Given the description of an element on the screen output the (x, y) to click on. 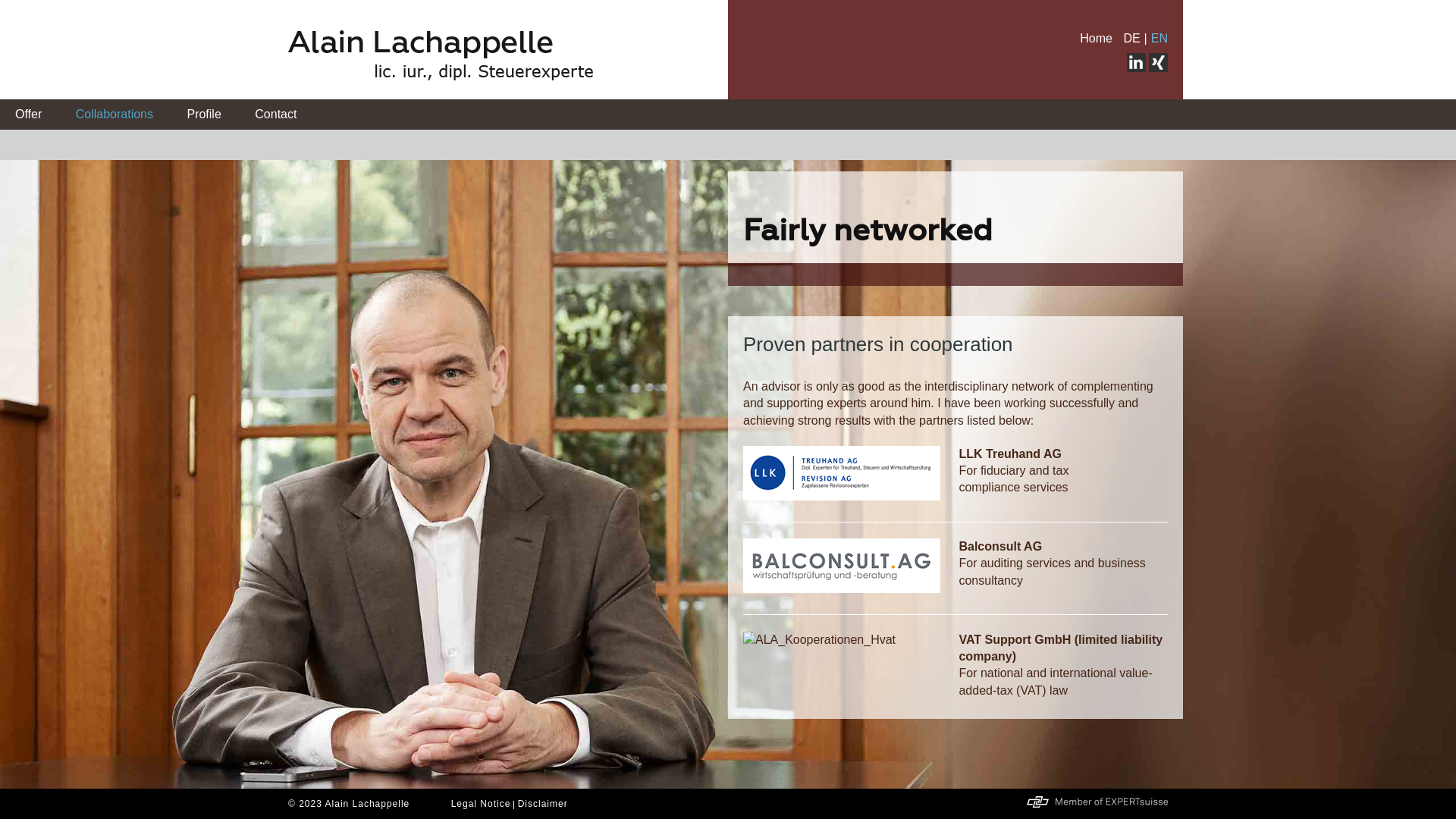
EN Element type: text (1159, 37)
Home Element type: text (1095, 37)
Collaborations Element type: text (114, 113)
Profile Element type: text (203, 113)
DE Element type: text (1131, 37)
Disclaimer Element type: text (544, 803)
Offer Element type: text (28, 113)
Contact Element type: text (275, 113)
Legal Notice Element type: text (482, 803)
